Given the description of an element on the screen output the (x, y) to click on. 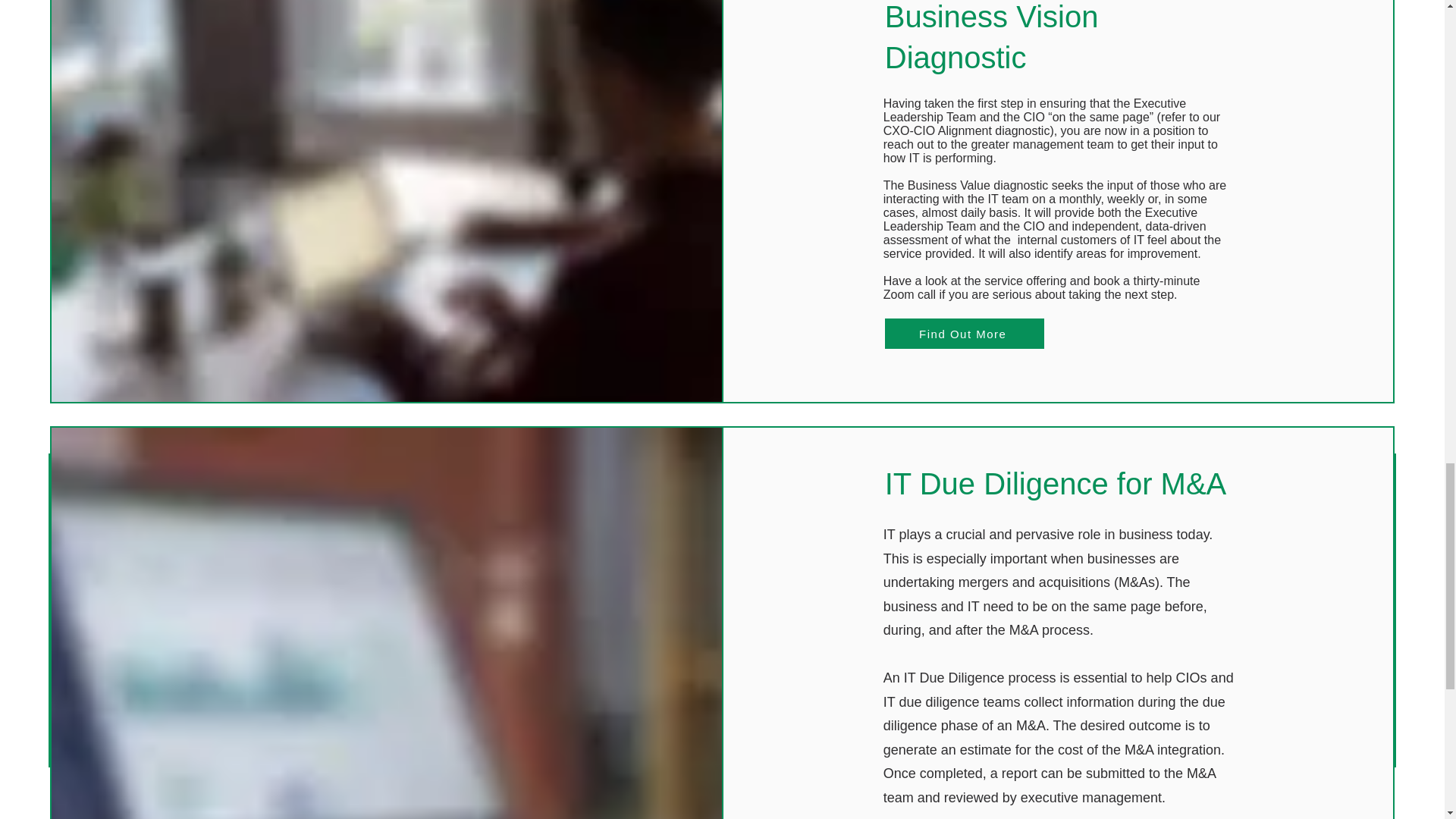
Learn More (178, 702)
Find Out More (964, 333)
